Given the description of an element on the screen output the (x, y) to click on. 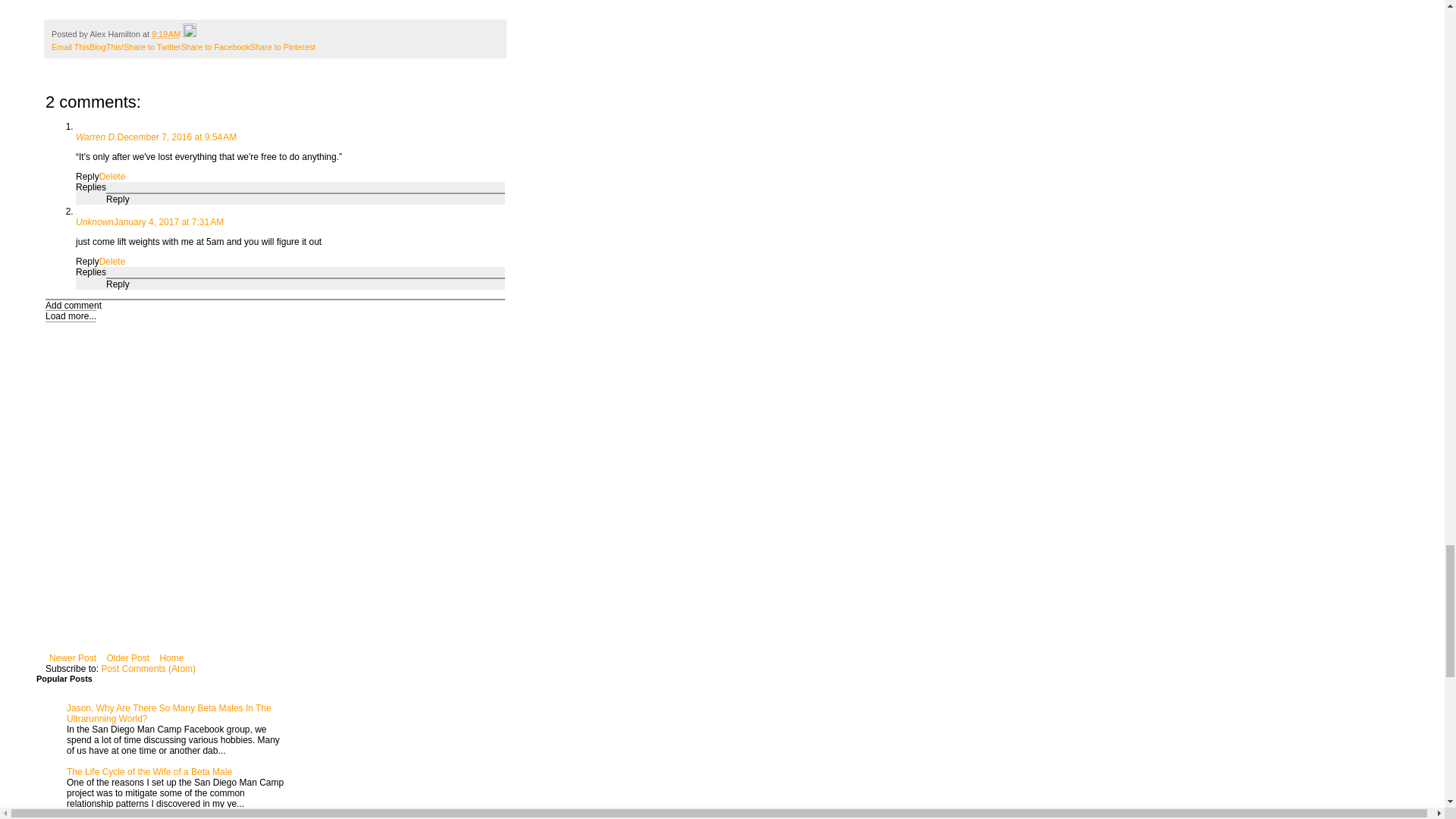
Edit Post (189, 32)
Email This (69, 46)
permanent link (165, 32)
Newer Post (72, 658)
Delete (112, 261)
Replies (90, 271)
Older Post (126, 658)
Reply (117, 199)
BlogThis! (105, 46)
Warren D. (95, 136)
Reply (87, 261)
Email This (69, 46)
Share to Facebook (215, 46)
Add comment (73, 305)
